Given the description of an element on the screen output the (x, y) to click on. 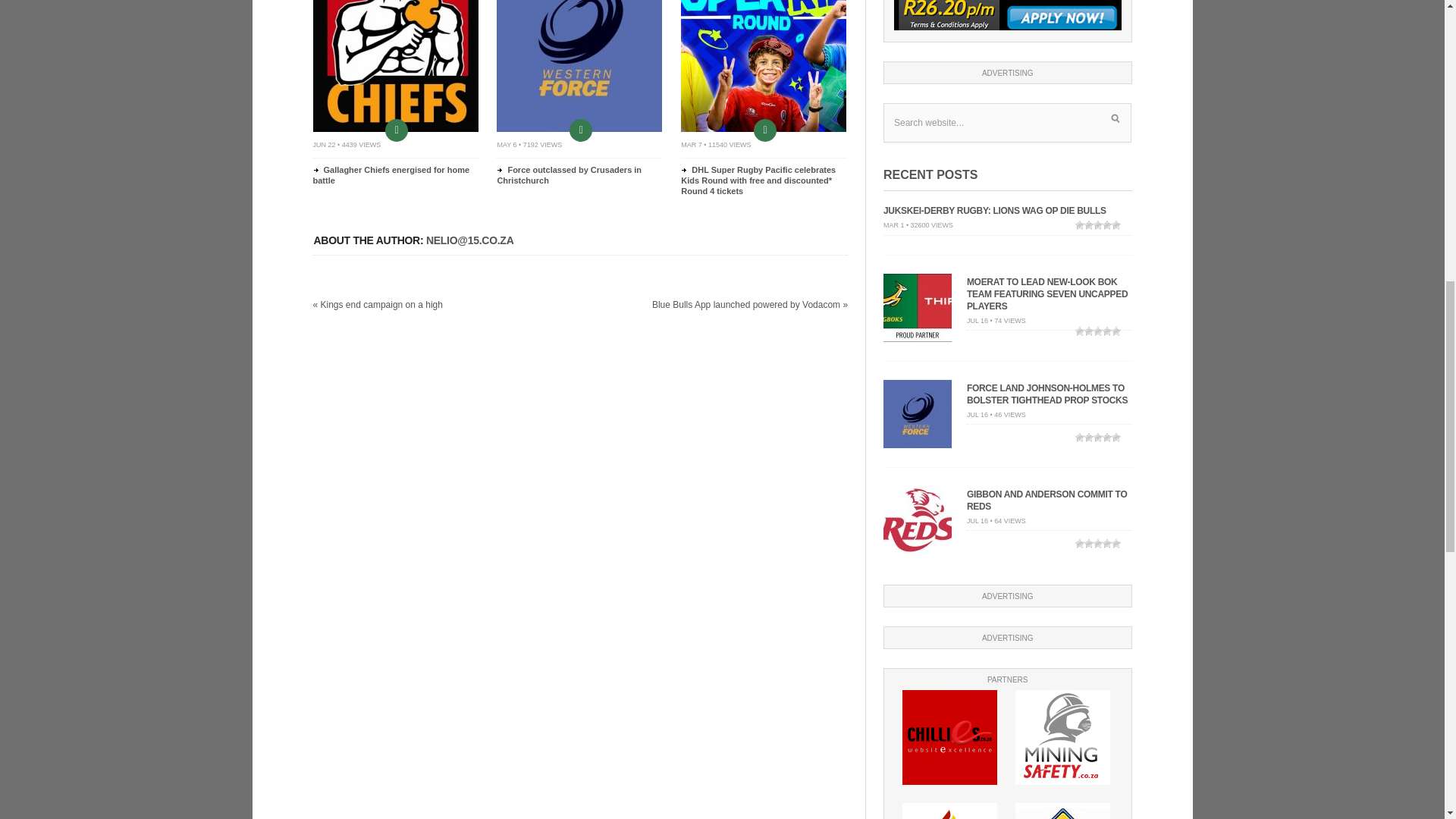
Force outclassed by Crusaders in Christchurch (579, 128)
Force outclassed by Crusaders in Christchurch (569, 175)
Gallagher Chiefs energised for home battle (390, 175)
Gallagher Chiefs energised for home battle (395, 128)
Search website... (1007, 122)
